Given the description of an element on the screen output the (x, y) to click on. 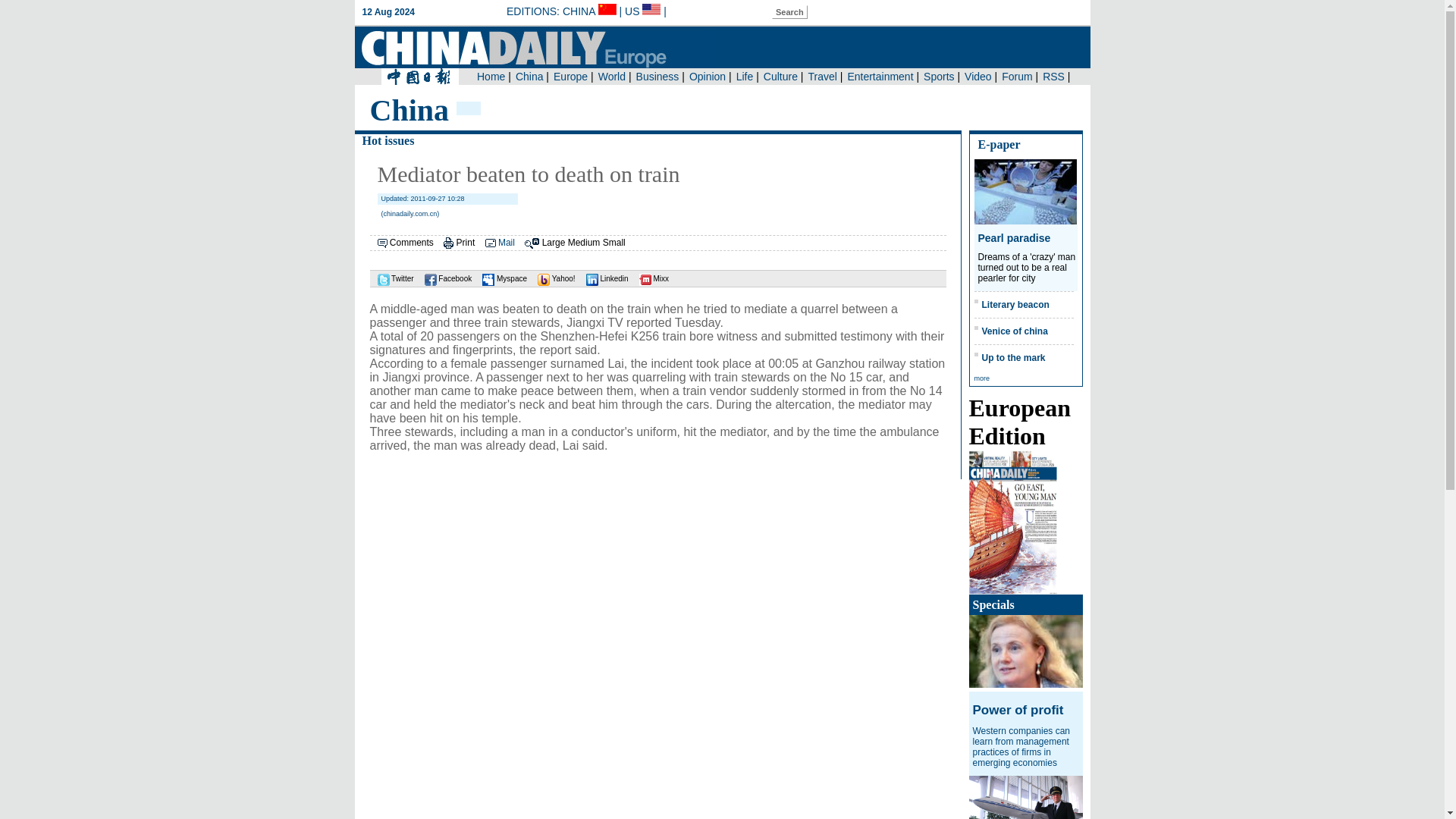
Share to Linkedin (603, 278)
Print (466, 242)
Small (614, 242)
Medium (583, 242)
Mixx (649, 278)
Share to Mixx (649, 278)
Pearl paradise (1014, 237)
Twitter (391, 278)
Literary beacon (1014, 304)
Comments (411, 242)
